Given the description of an element on the screen output the (x, y) to click on. 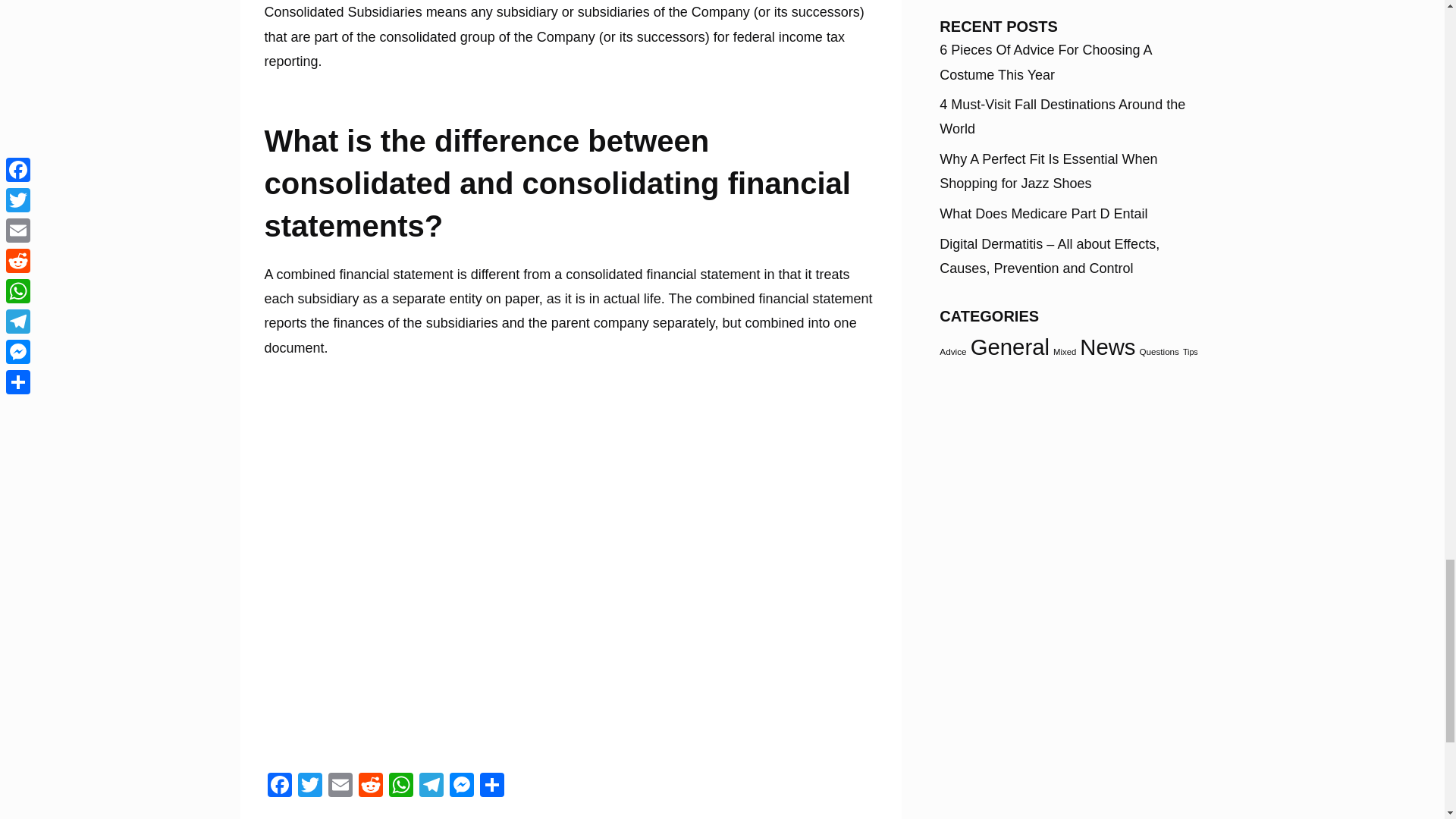
Messenger (460, 786)
Messenger (460, 786)
Telegram (429, 786)
Share (491, 786)
Email (339, 786)
Telegram (429, 786)
Facebook (278, 786)
Facebook (278, 786)
Email (339, 786)
Twitter (309, 786)
Reddit (370, 786)
Twitter (309, 786)
Reddit (370, 786)
WhatsApp (399, 786)
